Given the description of an element on the screen output the (x, y) to click on. 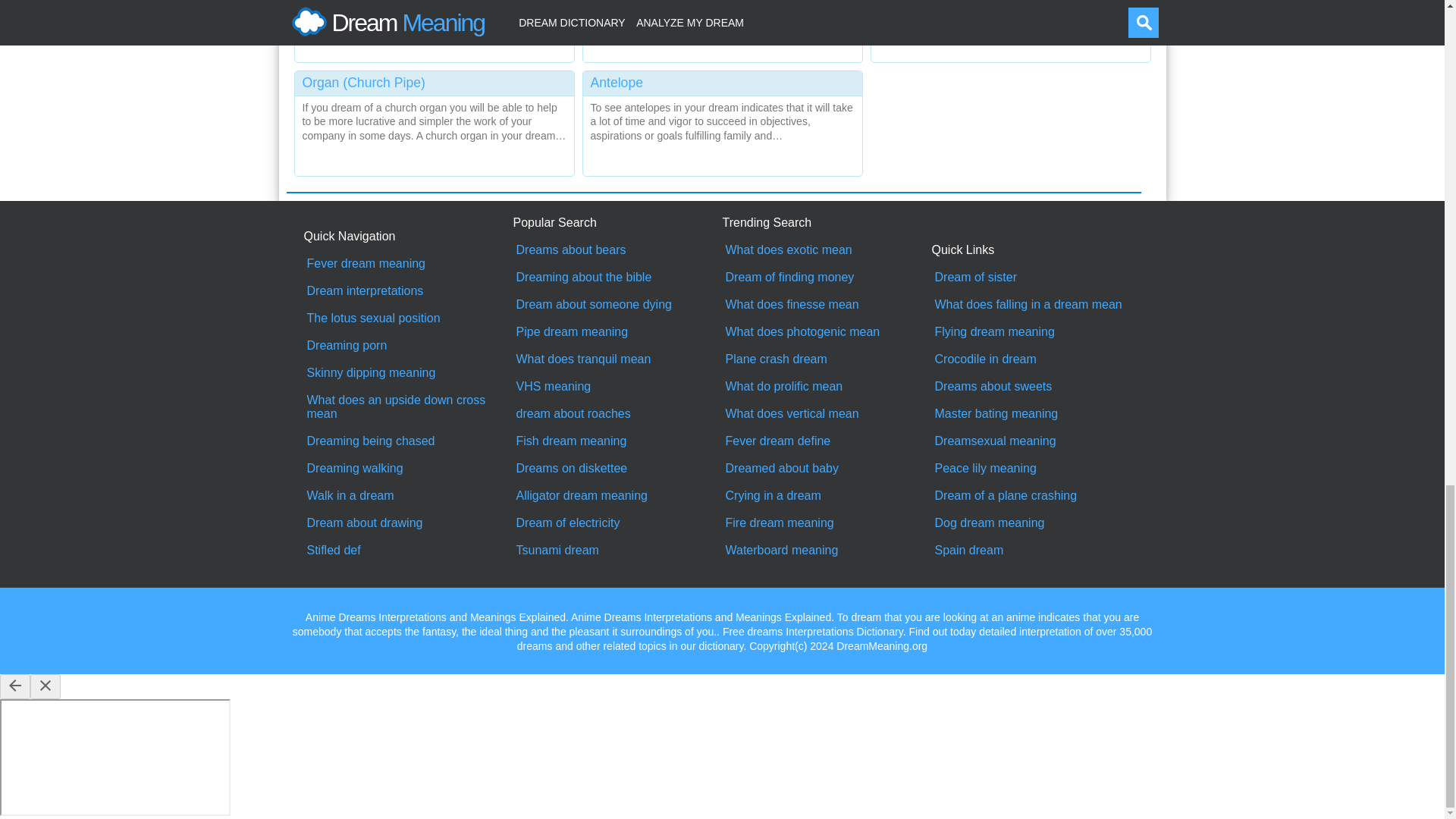
Skinny dipping meaning (407, 373)
Dream about someone dying (617, 305)
The lotus sexual position (407, 318)
Sadness Dream Meaning (721, 27)
What does tranquil mean (617, 359)
Dreaming about the bible (617, 277)
Dream about drawing (407, 522)
Dream interpretations (407, 291)
What does an upside down cross mean (407, 406)
Dreaming walking (407, 468)
